Given the description of an element on the screen output the (x, y) to click on. 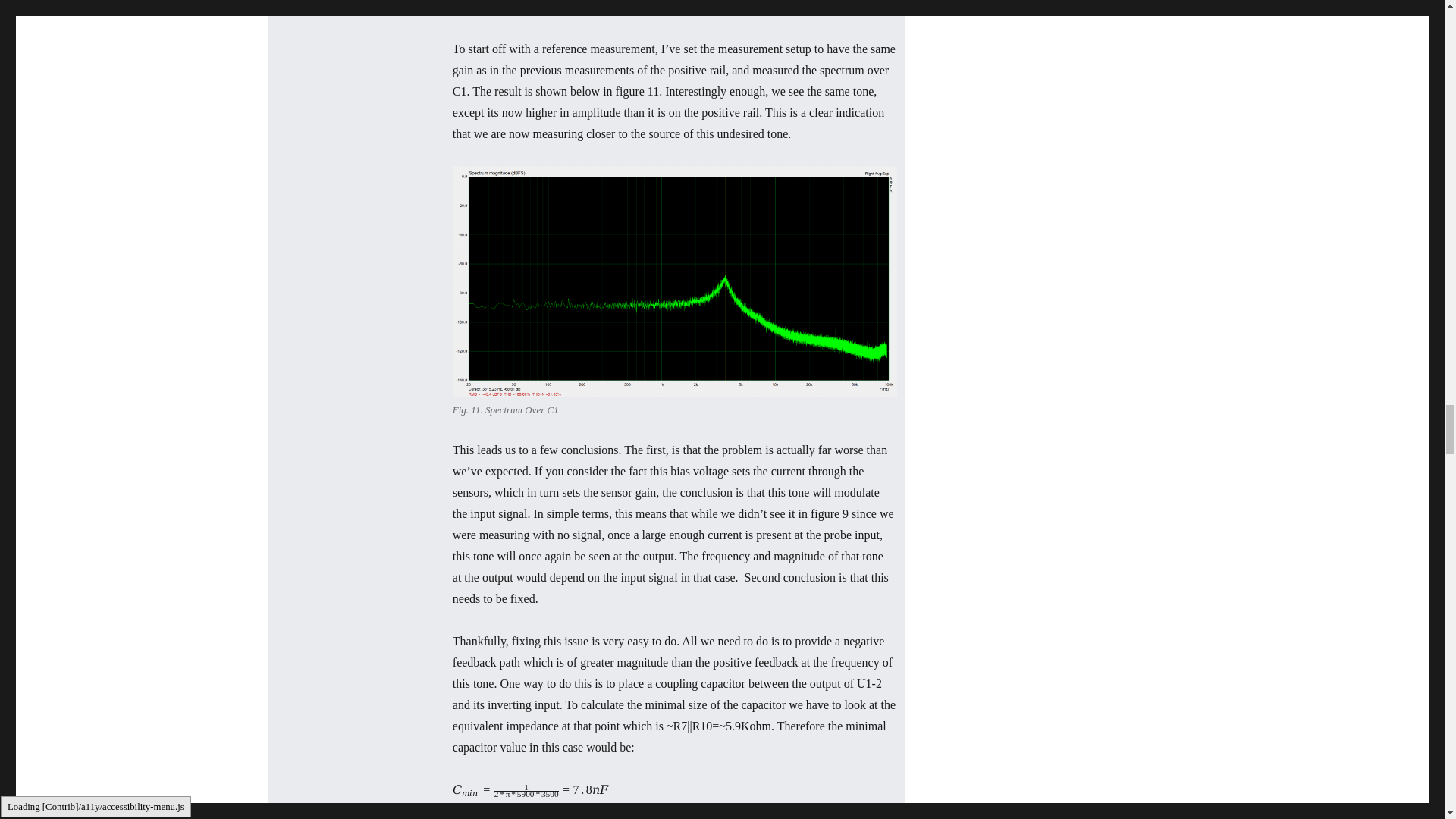
source (630, 8)
